Given the description of an element on the screen output the (x, y) to click on. 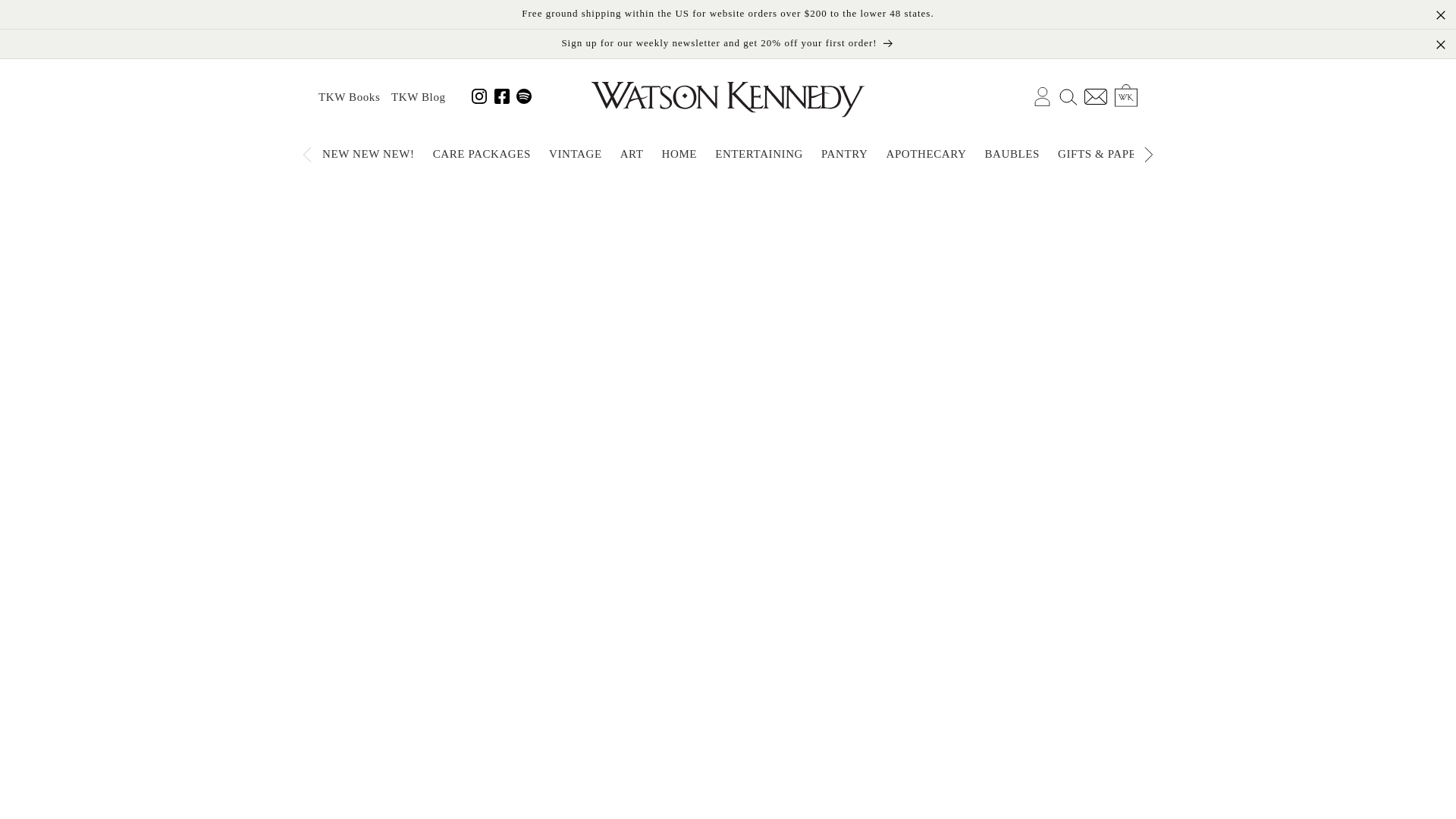
ENTERTAINING (759, 154)
APOTHECARY (925, 154)
BAUBLES (1011, 154)
TKW Books (349, 96)
PANTRY (844, 154)
TKW Blog (418, 96)
HOME (679, 154)
NEW NEW NEW! (372, 154)
VINTAGE (575, 154)
CARE PACKAGES (481, 154)
ART (631, 154)
Skip to content (45, 17)
